Given the description of an element on the screen output the (x, y) to click on. 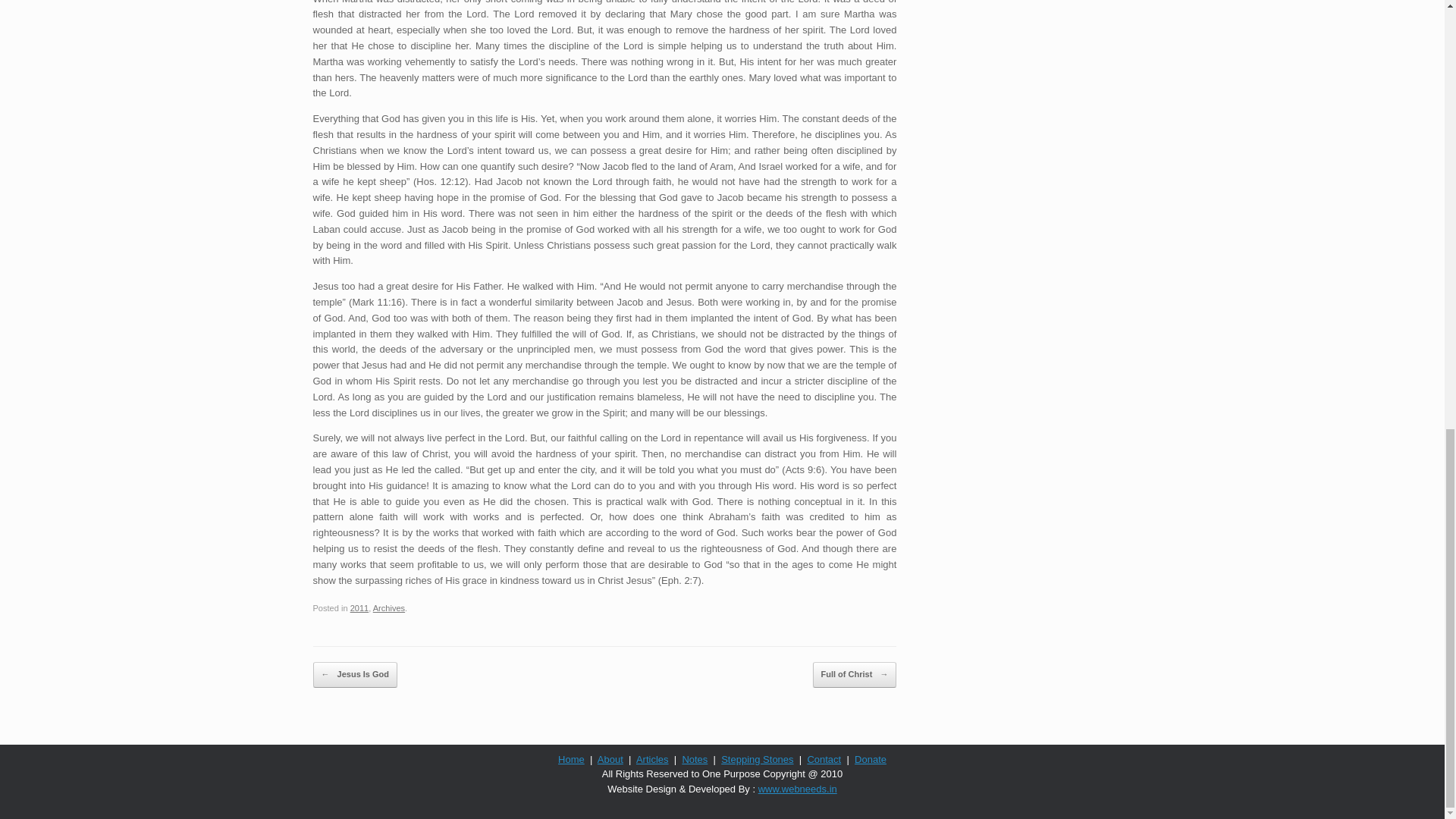
Home (571, 758)
Notes (694, 758)
About (609, 758)
2011 (359, 607)
Stepping Stones (756, 758)
Articles (652, 758)
Archives (388, 607)
Contact (823, 758)
